Given the description of an element on the screen output the (x, y) to click on. 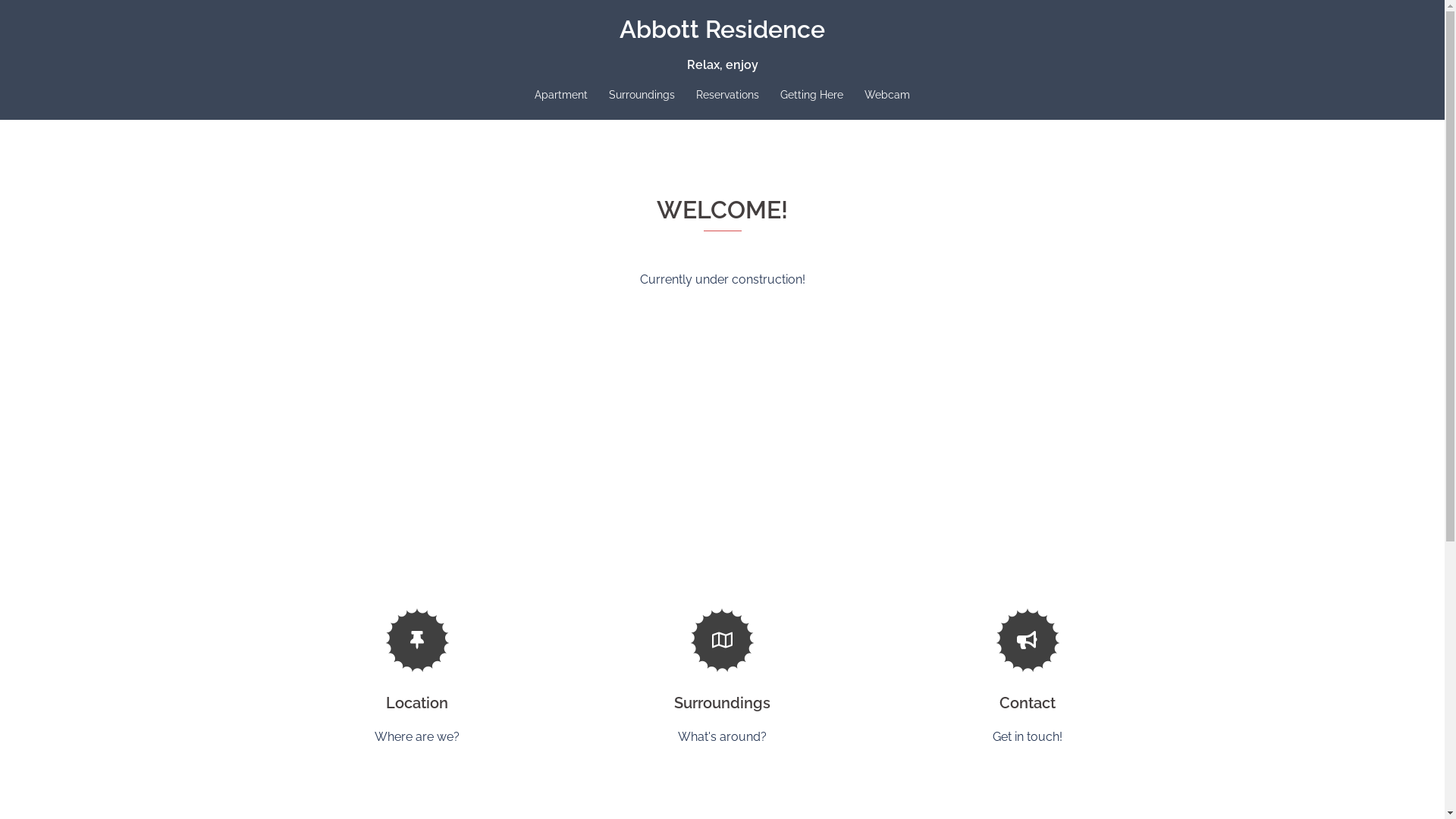
Getting Here Element type: text (811, 95)
Search Element type: text (48, 18)
Surroundings Element type: text (641, 95)
Apartment Element type: text (560, 95)
Reservations Element type: text (727, 95)
Contact Element type: text (1027, 702)
Webcam Element type: text (887, 95)
Location Element type: text (416, 702)
Abbott Residence Element type: text (722, 29)
Surroundings Element type: text (722, 702)
